Given the description of an element on the screen output the (x, y) to click on. 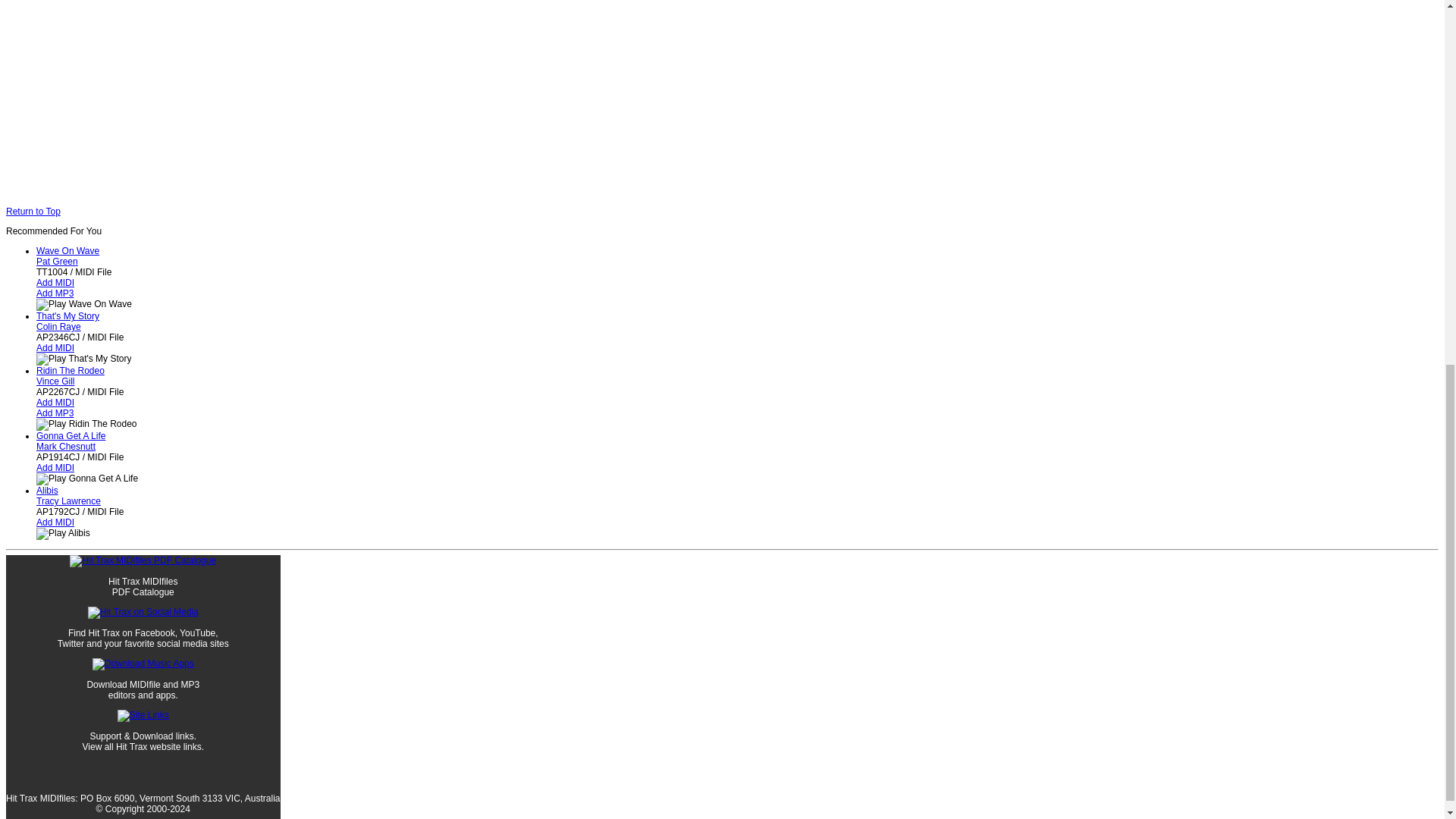
Return to Top (33, 211)
Add MP3 (55, 412)
Buy MIDI for That's My Story Colin Raye (55, 347)
Add MIDI (55, 521)
Pat Green (57, 261)
Gonna Get A Life (70, 435)
That's My Story (67, 316)
Colin Raye MIDI backing Track (58, 326)
Vince Gill (55, 380)
Ridin The Rodeo (70, 370)
Wave On Wave (67, 250)
Alibis (47, 490)
Add MIDI (55, 402)
Buy MP3 for Wave On Wave Pat Green (55, 293)
Pat Green MIDI backing Track (57, 261)
